Given the description of an element on the screen output the (x, y) to click on. 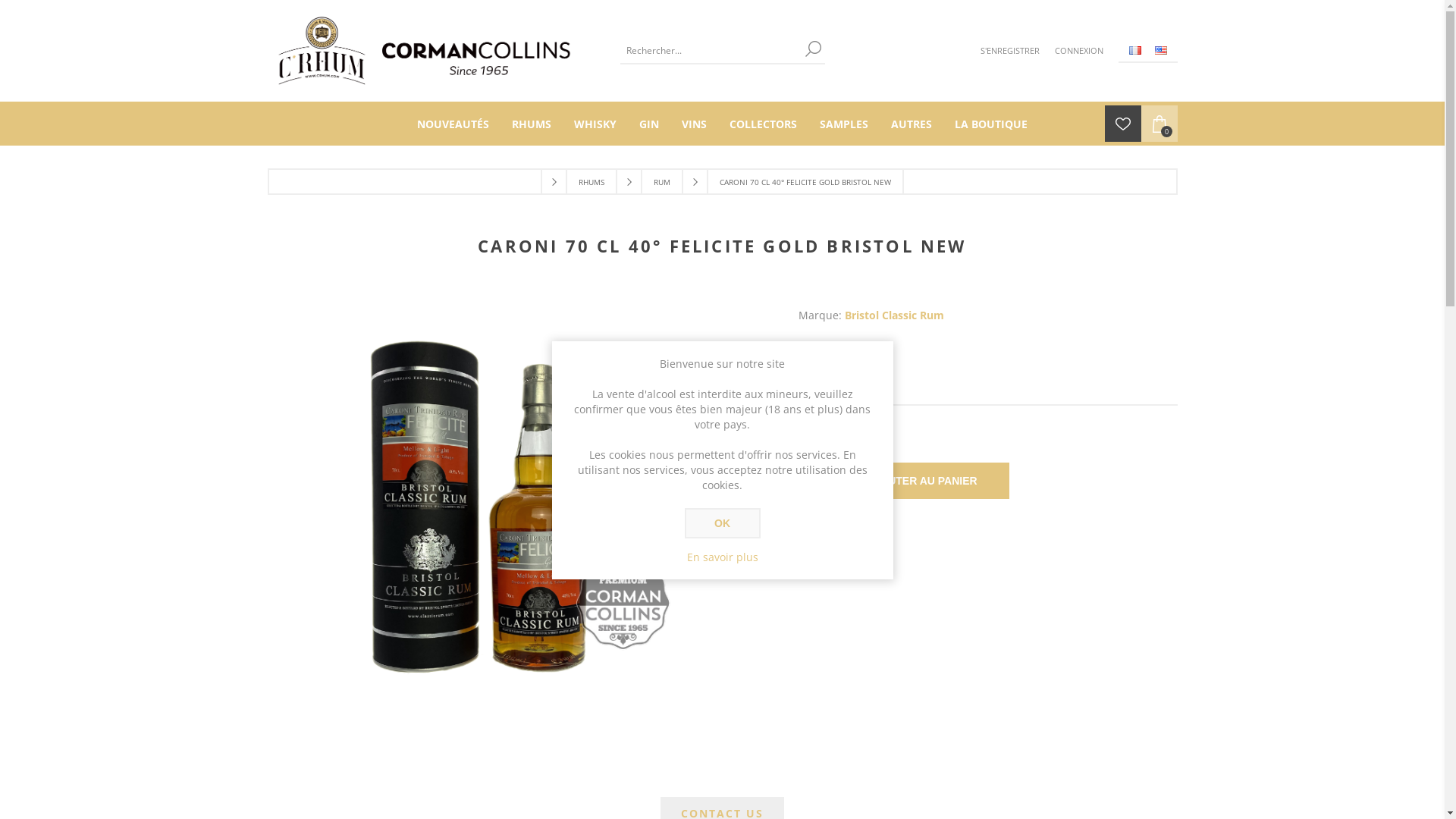
Bristol Classic Rum Element type: text (894, 314)
EN Element type: hover (1160, 50)
RUM Element type: text (661, 181)
En savoir plus Element type: text (722, 556)
VINS Element type: text (694, 123)
0 Element type: text (1158, 123)
WHISKY Element type: text (594, 123)
LA BOUTIQUE Element type: text (990, 123)
EN Element type: hover (1160, 49)
AJOUTER AU PANIER Element type: text (921, 480)
OK Element type: text (721, 523)
AUTRES Element type: text (911, 123)
COLLECTORS Element type: text (763, 123)
Corman Collins Element type: hover (422, 50)
GIN Element type: text (648, 123)
CONNEXION Element type: text (1078, 50)
FR Element type: hover (1134, 50)
FR Element type: hover (1134, 49)
RHUMS Element type: text (591, 181)
SAMPLES Element type: text (843, 123)
Rechercher Element type: text (813, 48)
RHUMS Element type: text (531, 123)
S'ENREGISTRER Element type: text (1008, 50)
